Given the description of an element on the screen output the (x, y) to click on. 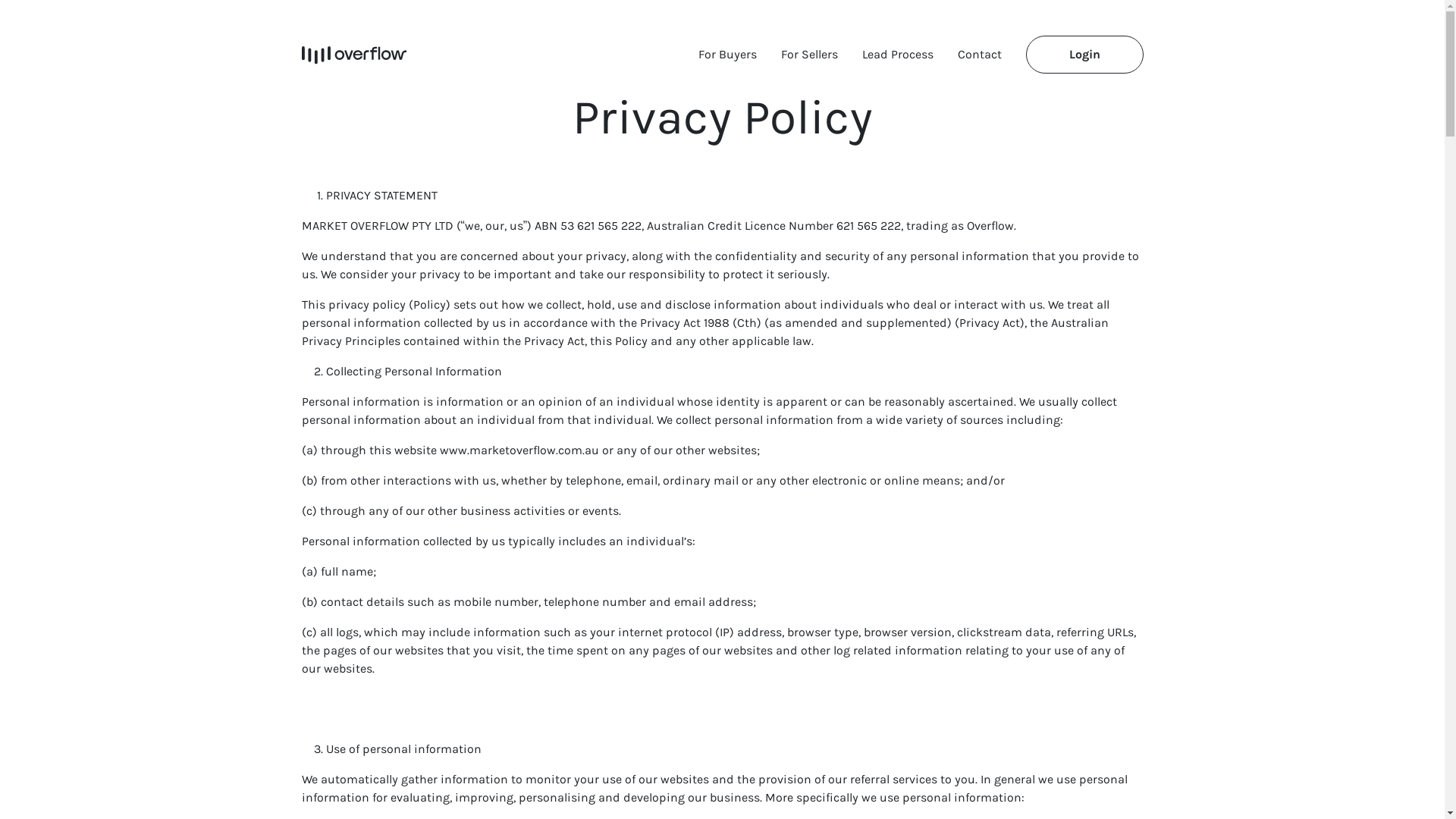
For Sellers Element type: text (809, 54)
Contact Element type: text (979, 54)
Lead Process Element type: text (896, 54)
For Buyers Element type: text (726, 54)
Login Element type: text (1083, 54)
